Given the description of an element on the screen output the (x, y) to click on. 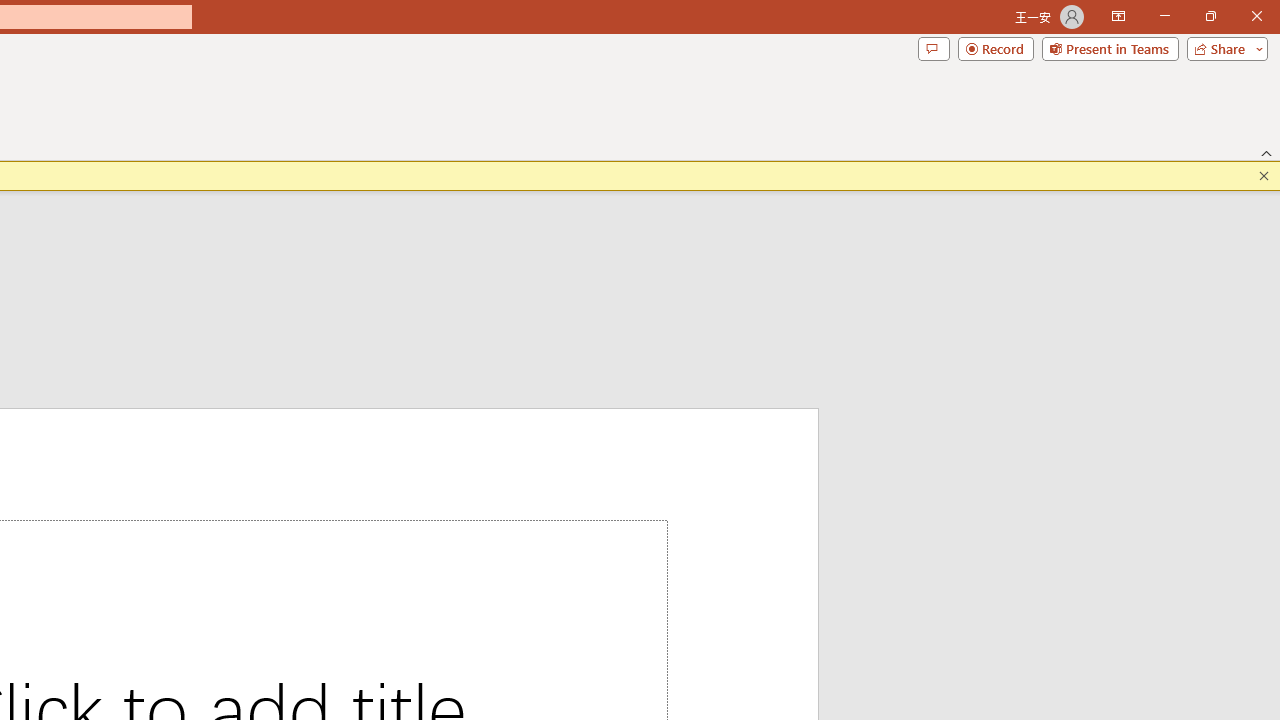
Close this message (1263, 176)
